Given the description of an element on the screen output the (x, y) to click on. 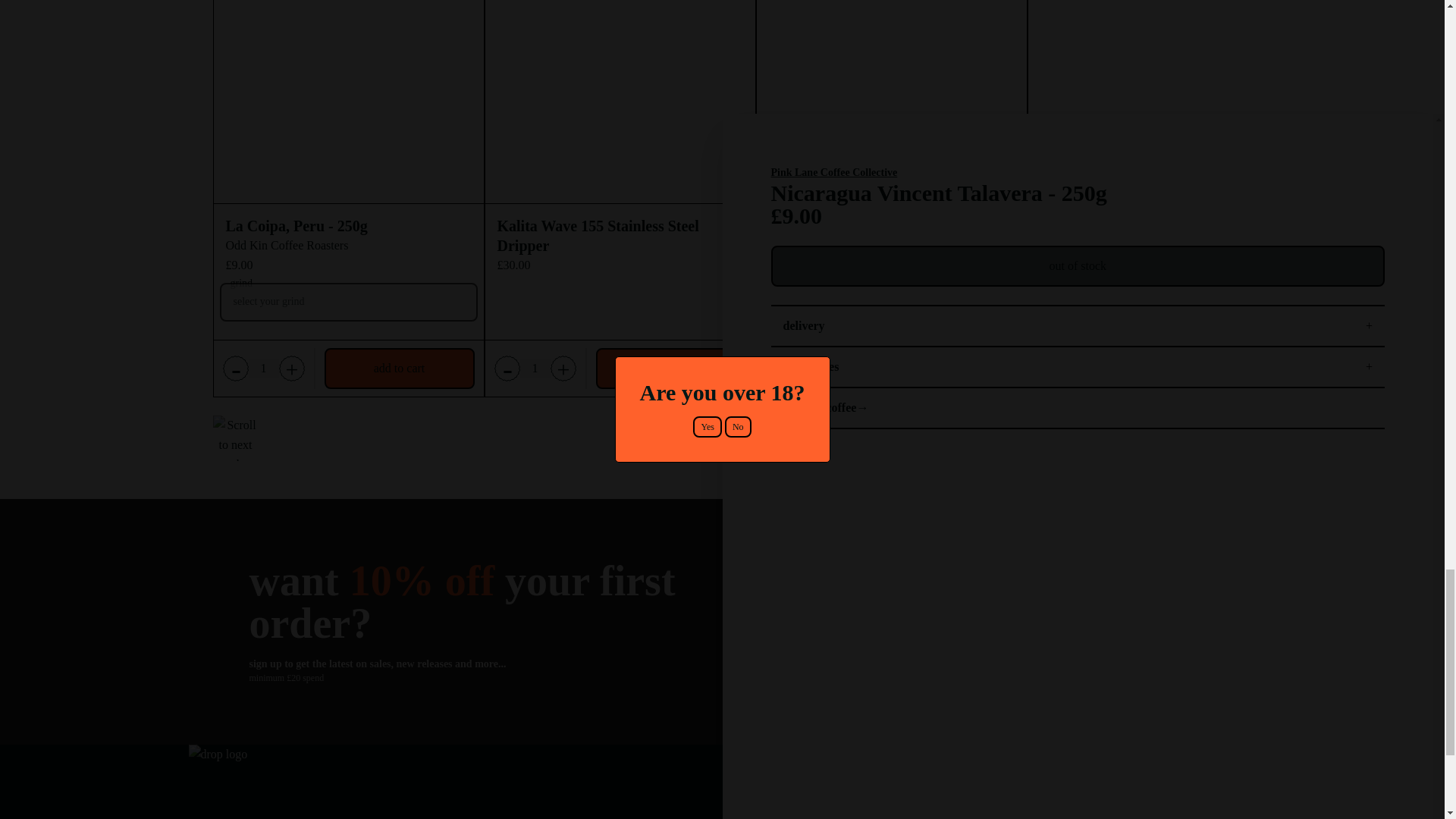
1 (807, 368)
1 (263, 368)
1 (534, 368)
1 (1077, 368)
1 (1350, 368)
